Given the description of an element on the screen output the (x, y) to click on. 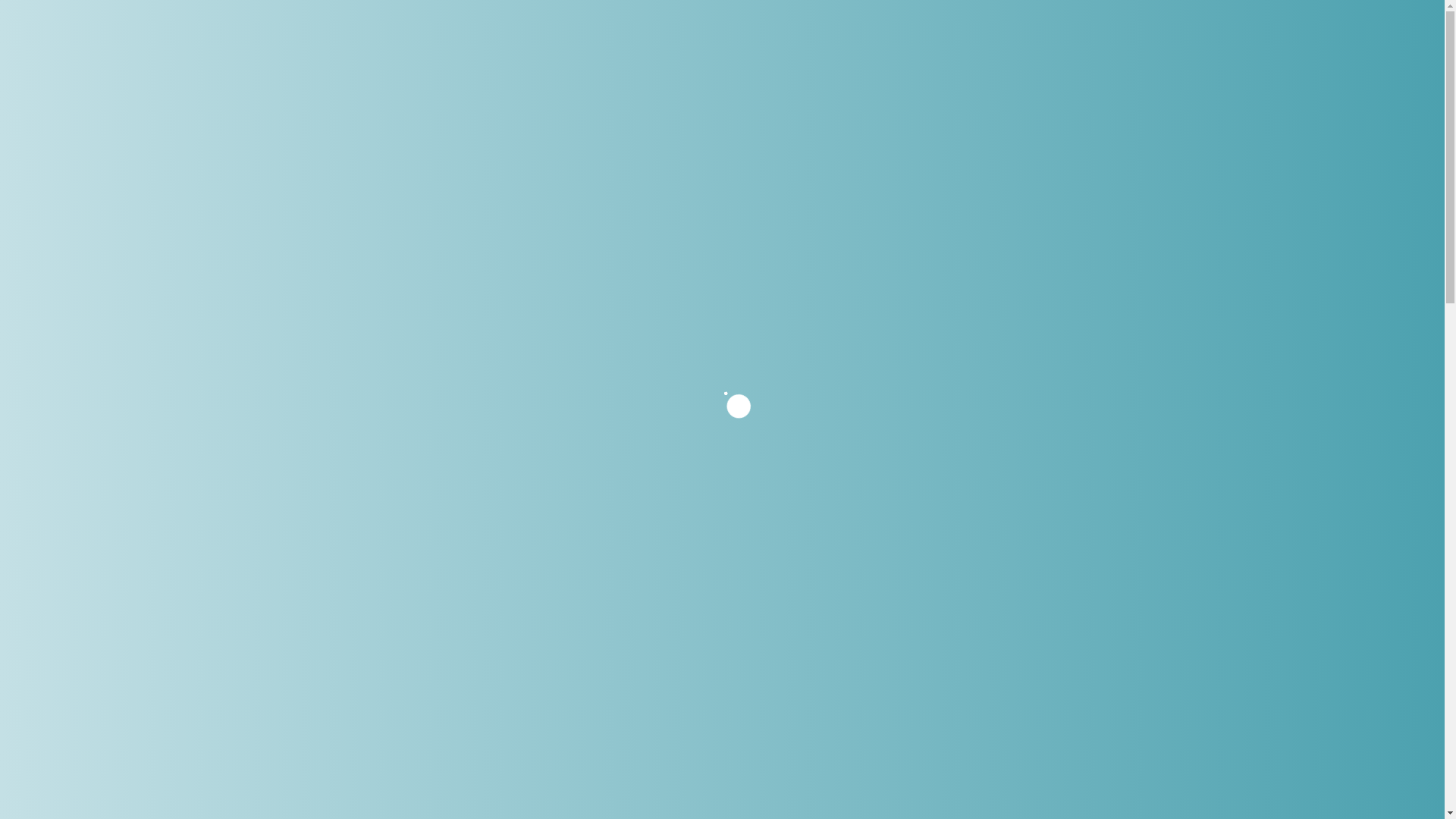
FOOD FLAVOURS (648, 42)
Home (628, 119)
CONTACT US (1129, 42)
FOOD COLOURS (527, 42)
Food Flavours (900, 541)
Liladhar- (98, 42)
BAKERY INGREDIENTS (788, 42)
